Given the description of an element on the screen output the (x, y) to click on. 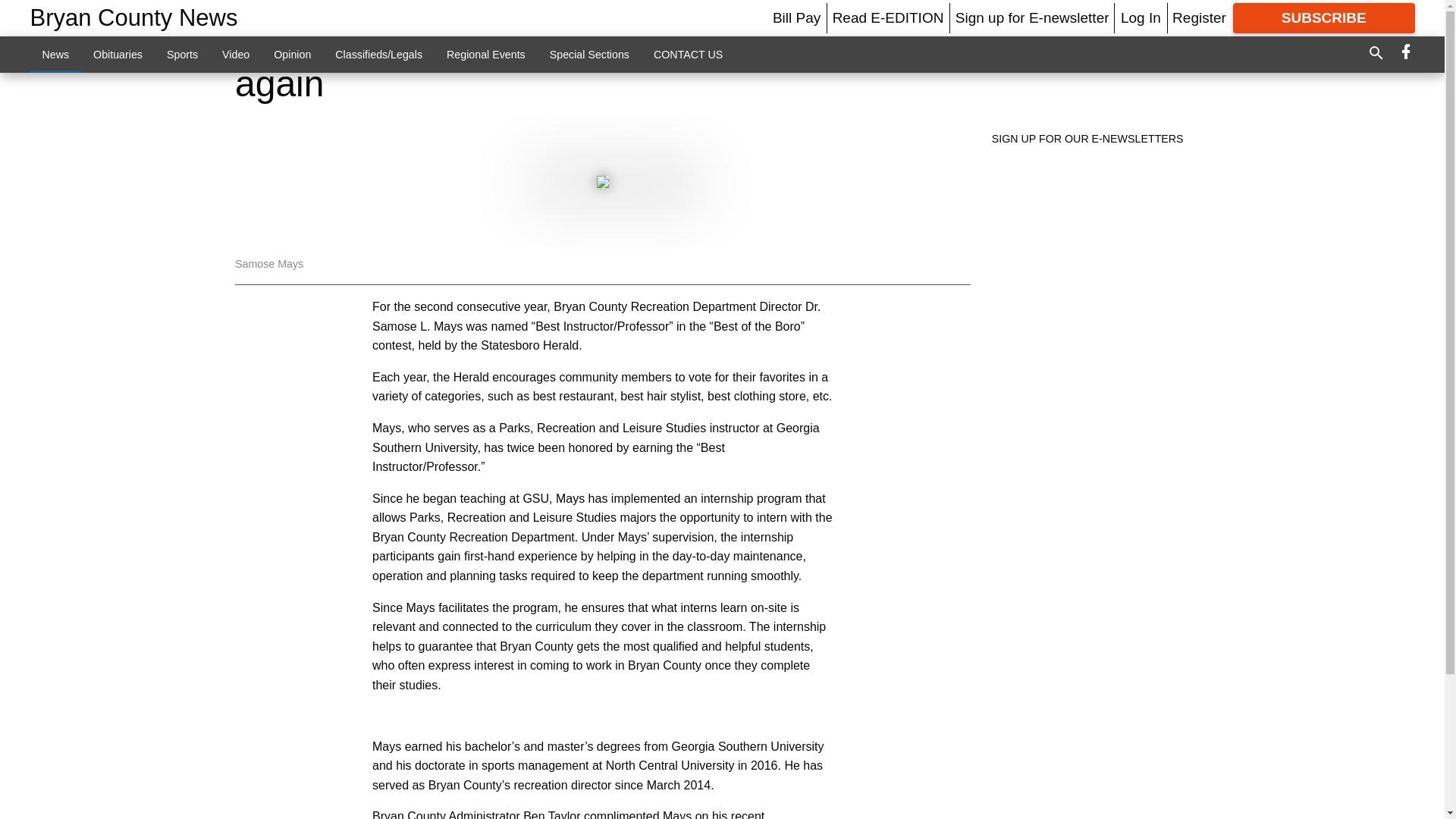
Read E-EDITION (887, 17)
Register (1198, 17)
Sign up for E-newsletter (1032, 17)
SUBSCRIBE (1324, 18)
Obituaries (117, 54)
Opinion (292, 54)
Regional Events (485, 54)
Bill Pay (797, 17)
Log In (1140, 17)
News (55, 54)
